Given the description of an element on the screen output the (x, y) to click on. 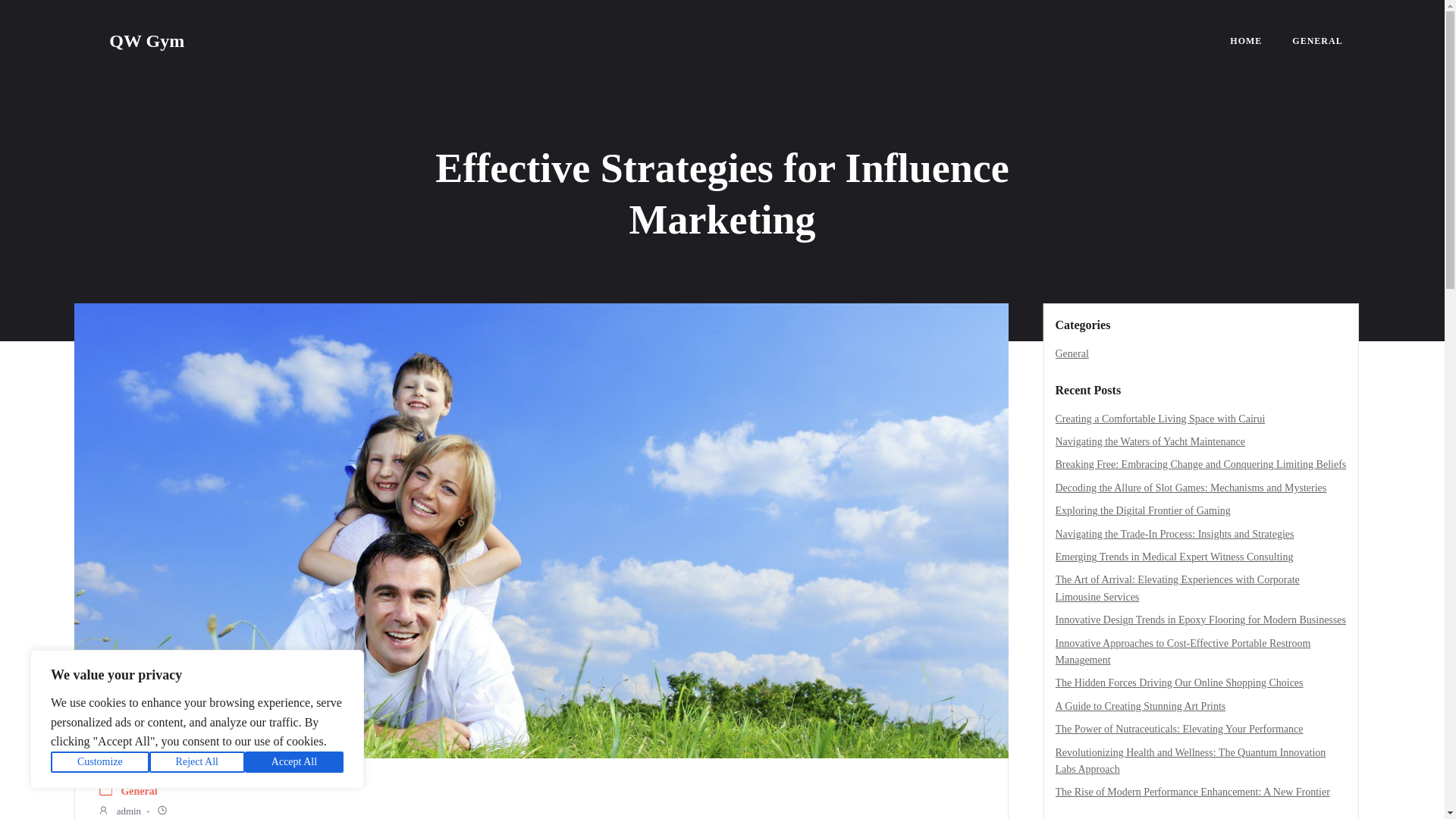
General (138, 791)
HOME (1246, 40)
Accept All (293, 762)
GENERAL (1317, 40)
Customize (99, 762)
admin (119, 811)
General (1072, 353)
Creating a Comfortable Living Space with Cairui (1160, 419)
Navigating the Waters of Yacht Maintenance (1150, 441)
